Given the description of an element on the screen output the (x, y) to click on. 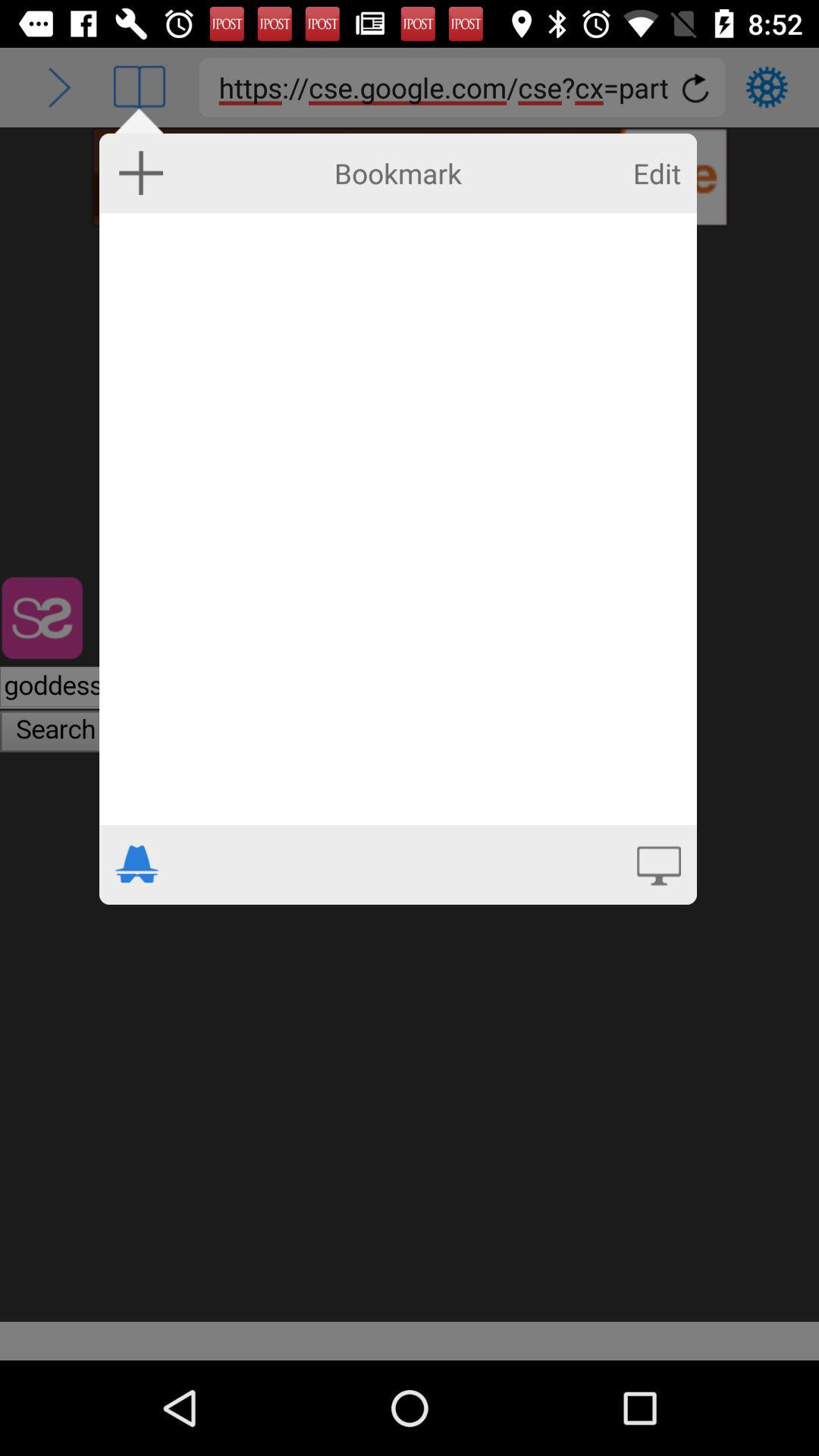
select bookmark box (397, 518)
